Given the description of an element on the screen output the (x, y) to click on. 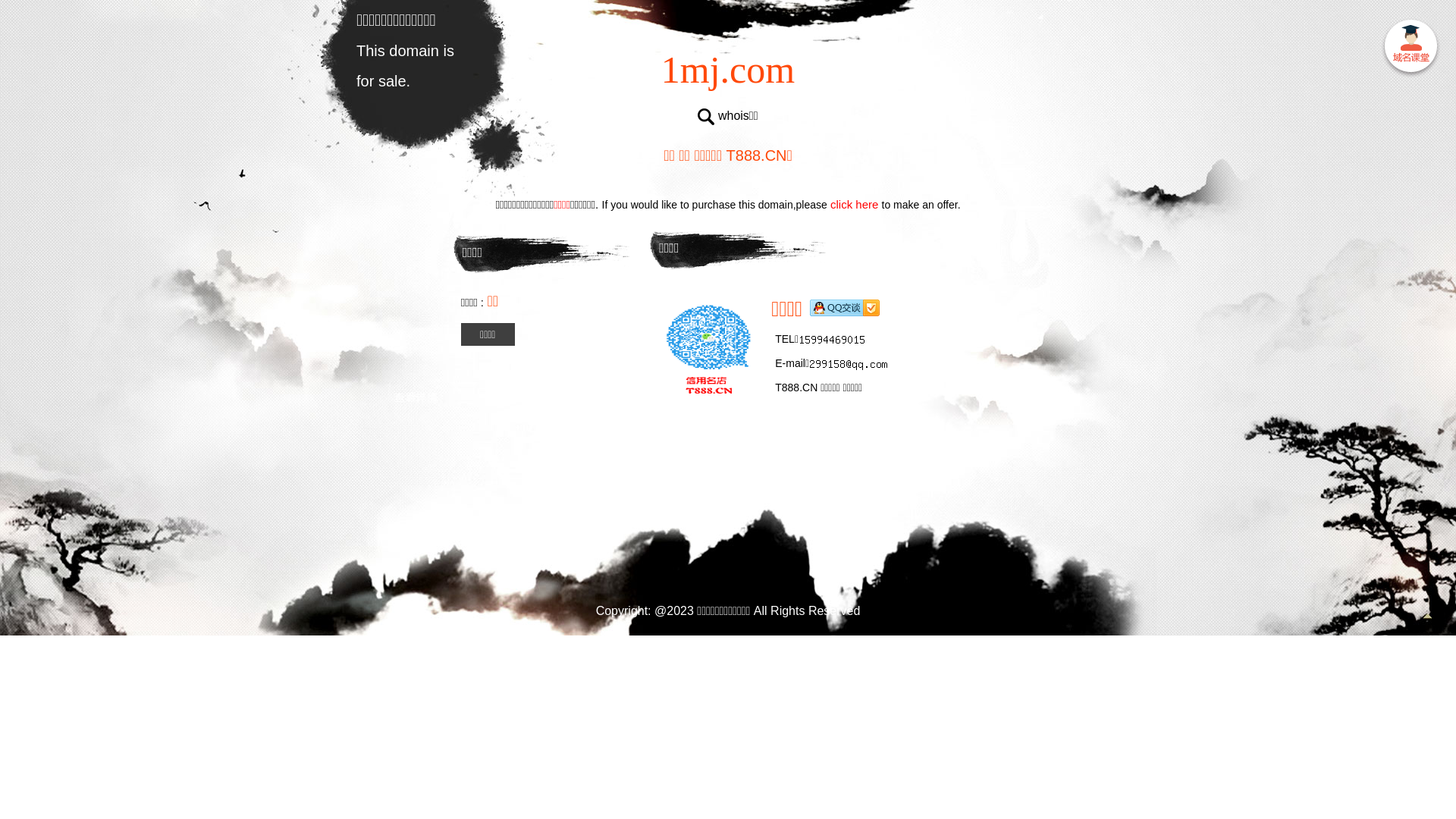
Advertisement Element type: hover (727, 507)
click here Element type: text (854, 203)
  Element type: text (1410, 48)
